Given the description of an element on the screen output the (x, y) to click on. 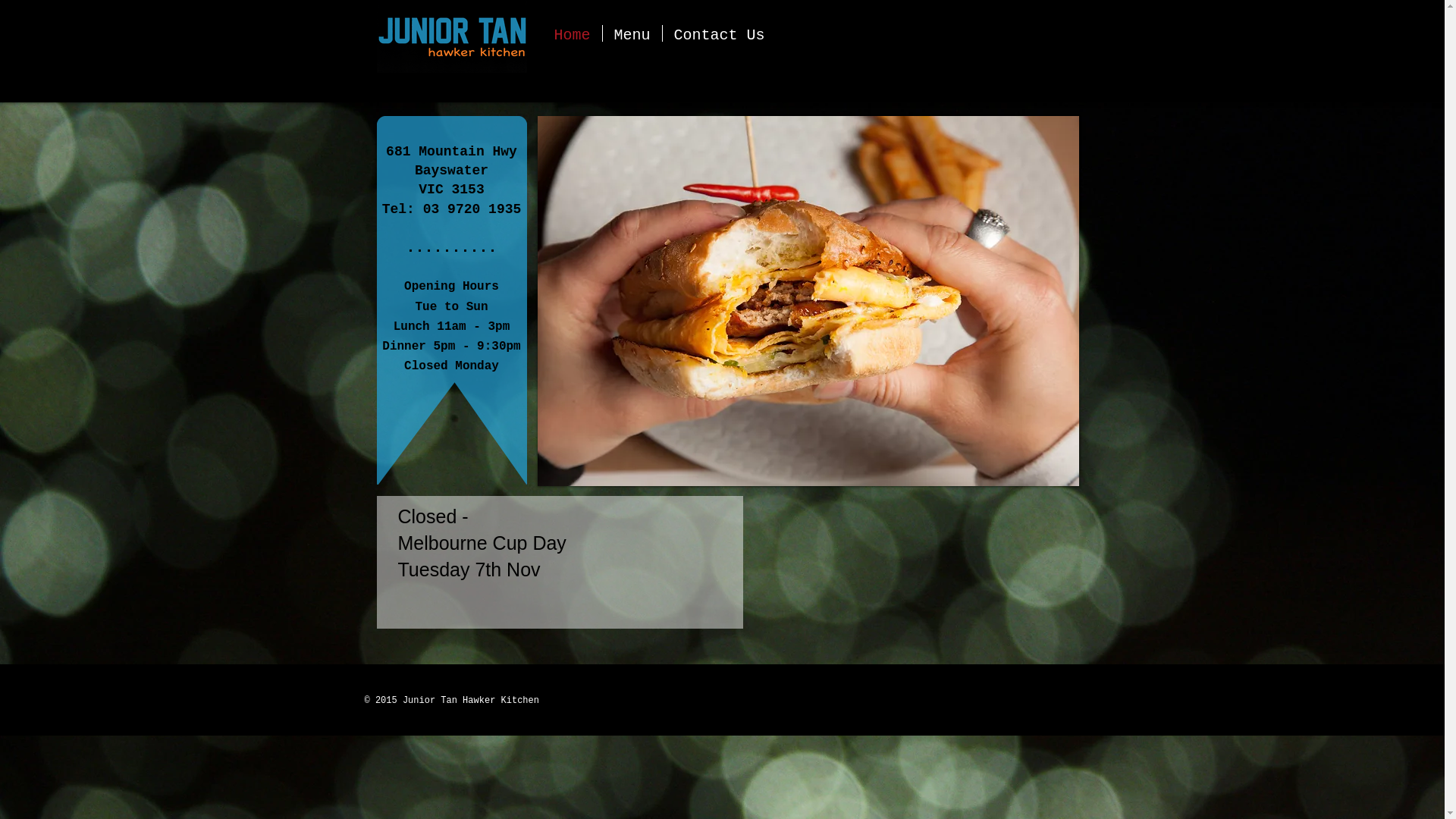
Contact Us Element type: text (719, 33)
Home Element type: text (572, 33)
Menu Element type: text (631, 33)
